Given the description of an element on the screen output the (x, y) to click on. 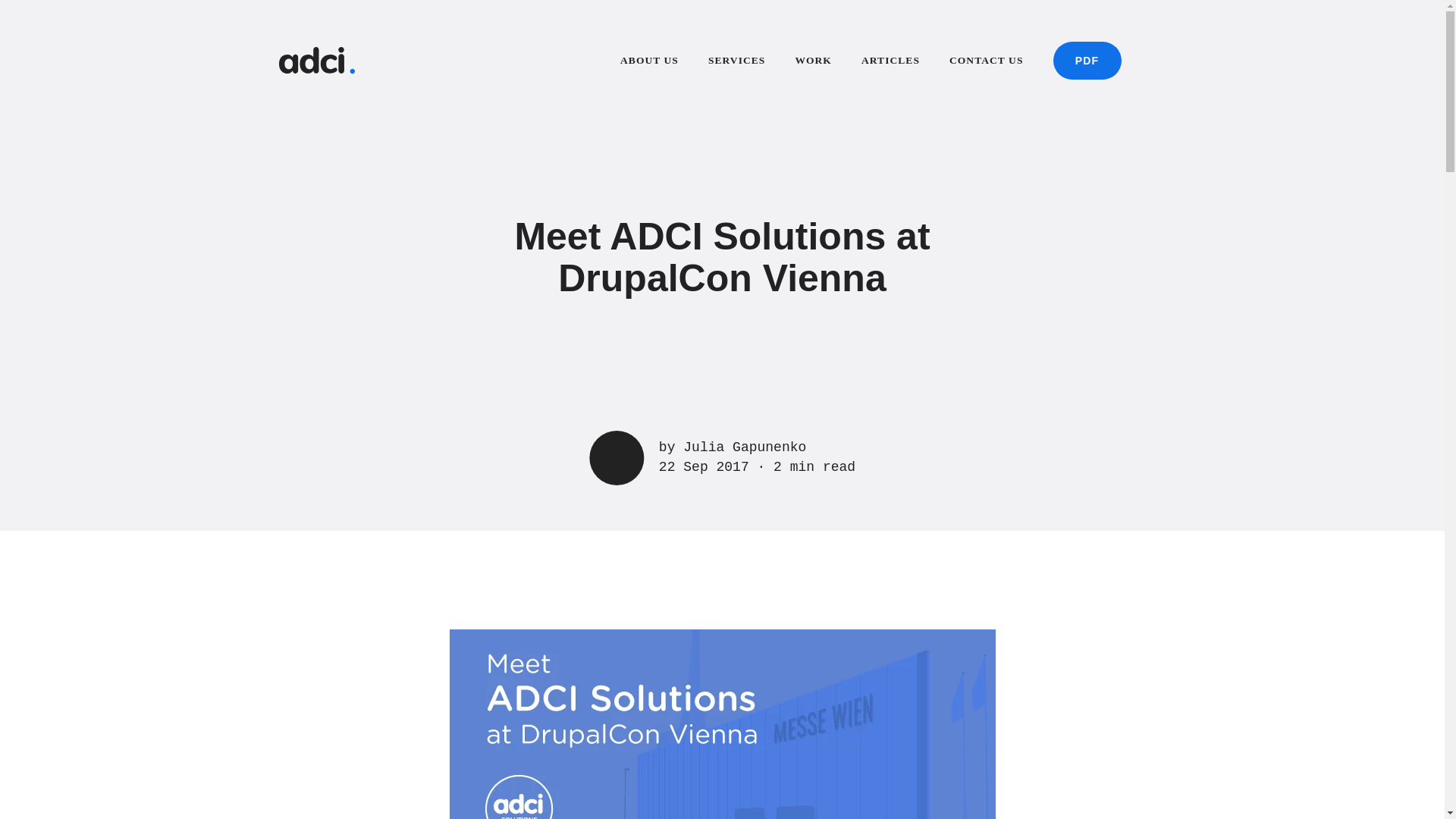
SEARCH (1158, 60)
ARTICLES (890, 62)
WORK (812, 62)
SERVICES (736, 62)
CONTACT US (986, 62)
Home (317, 60)
PDF (1086, 60)
ABOUT US (649, 62)
